Given the description of an element on the screen output the (x, y) to click on. 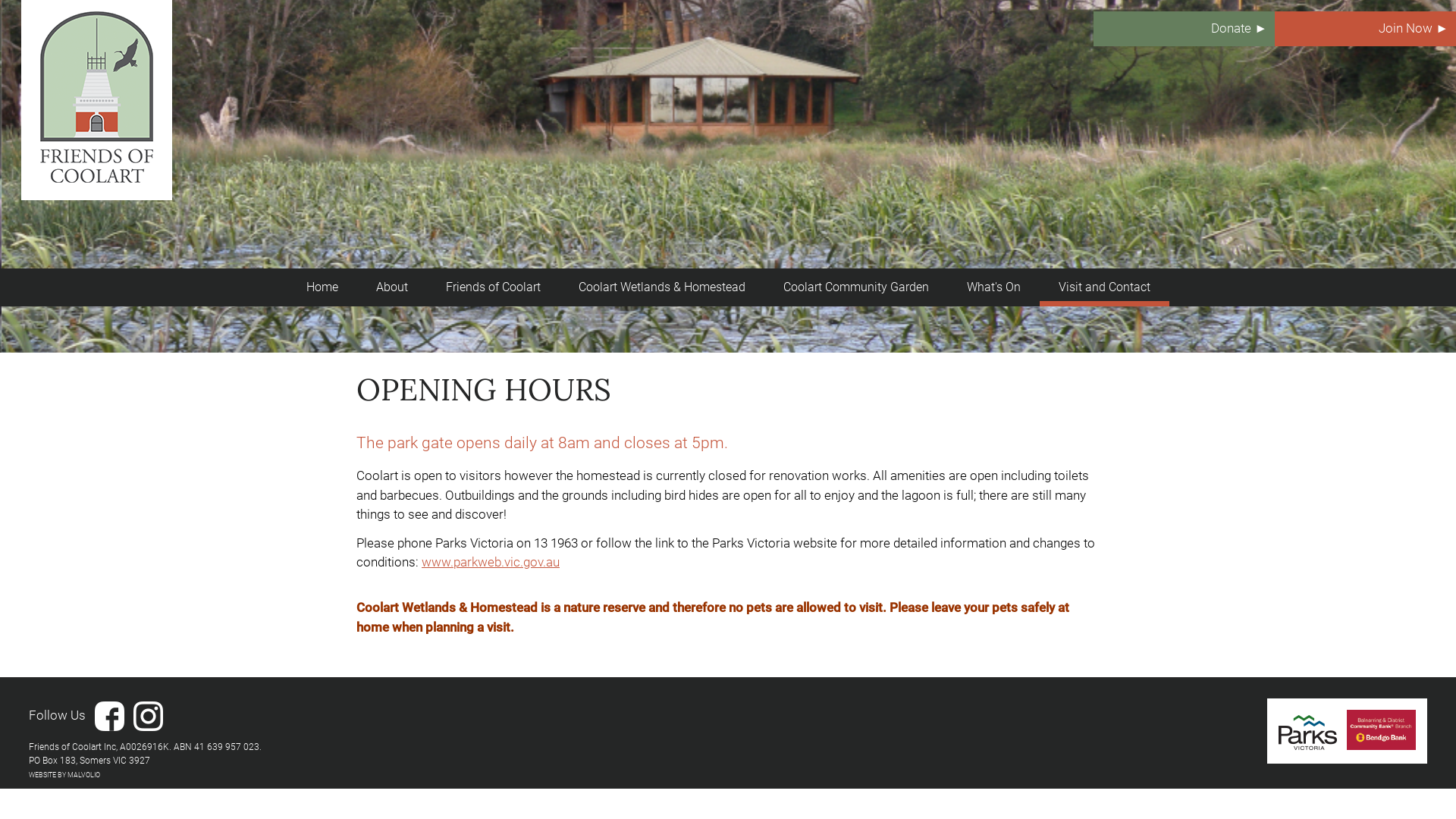
Coolart Community Garden Element type: text (855, 287)
Home Element type: text (321, 287)
www.parkweb.vic.gov.au Element type: text (490, 561)
Visit and Contact Element type: text (1103, 287)
Coolart Wetlands & Homestead Element type: text (661, 287)
What's On Element type: text (993, 287)
About Element type: text (391, 287)
WEBSITE BY MALVOLIO Element type: text (64, 774)
Friends of Coolart Element type: text (492, 287)
